Given the description of an element on the screen output the (x, y) to click on. 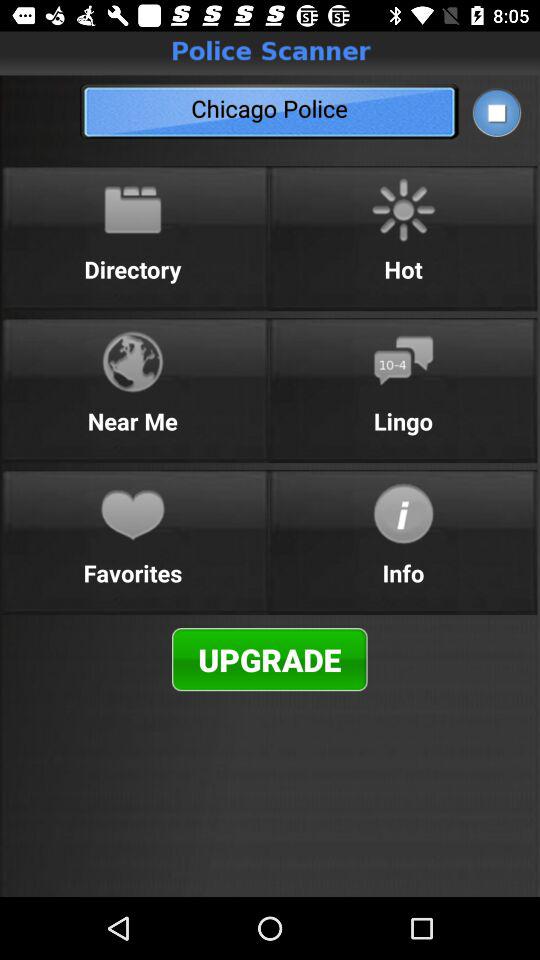
stop playback (496, 111)
